Given the description of an element on the screen output the (x, y) to click on. 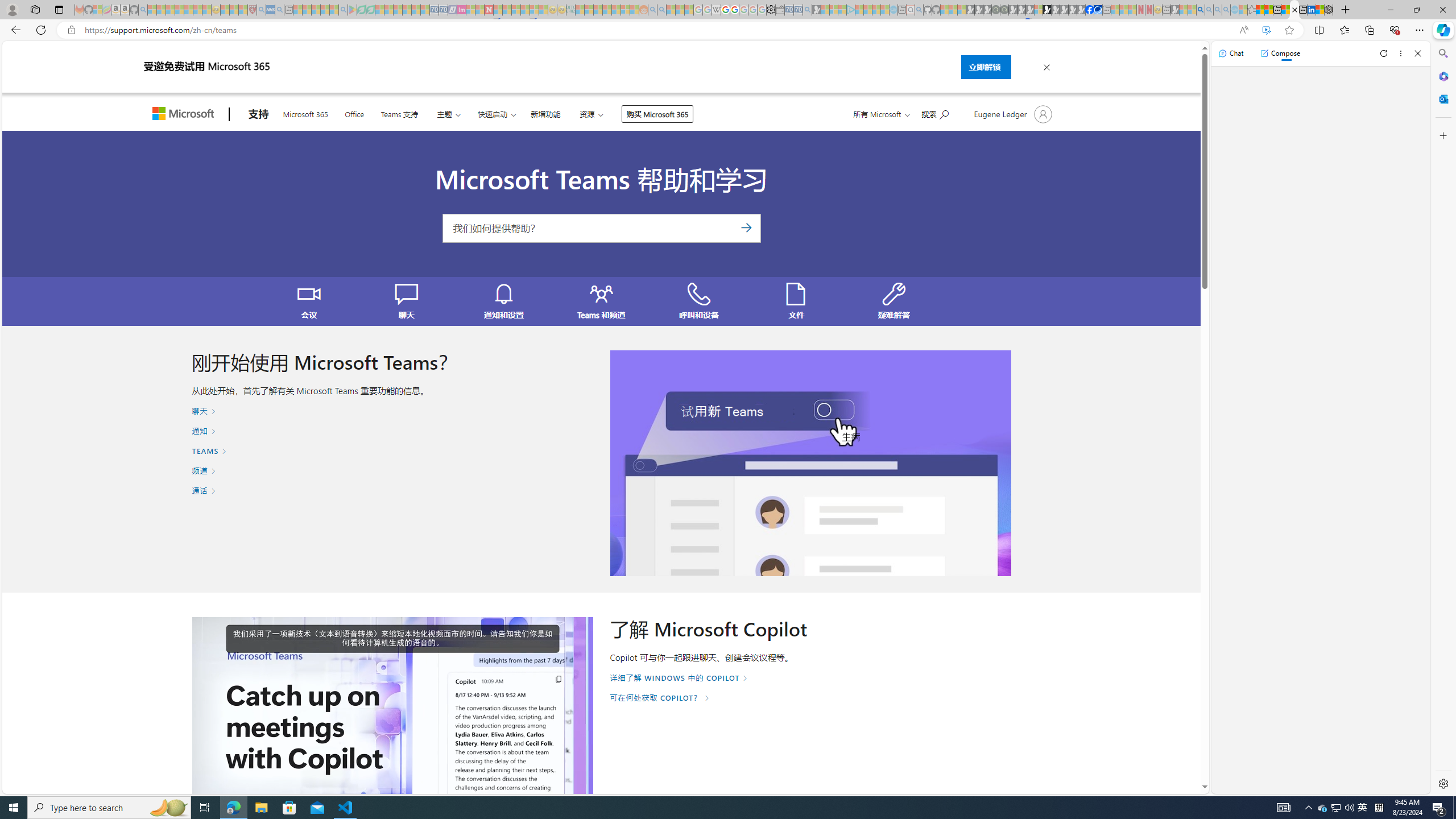
Microsoft account | Privacy - Sleeping (841, 9)
Microsoft 365 (305, 112)
Bing Real Estate - Home sales and rental listings - Sleeping (806, 9)
Enhance video (1266, 29)
Local - MSN - Sleeping (242, 9)
